Given the description of an element on the screen output the (x, y) to click on. 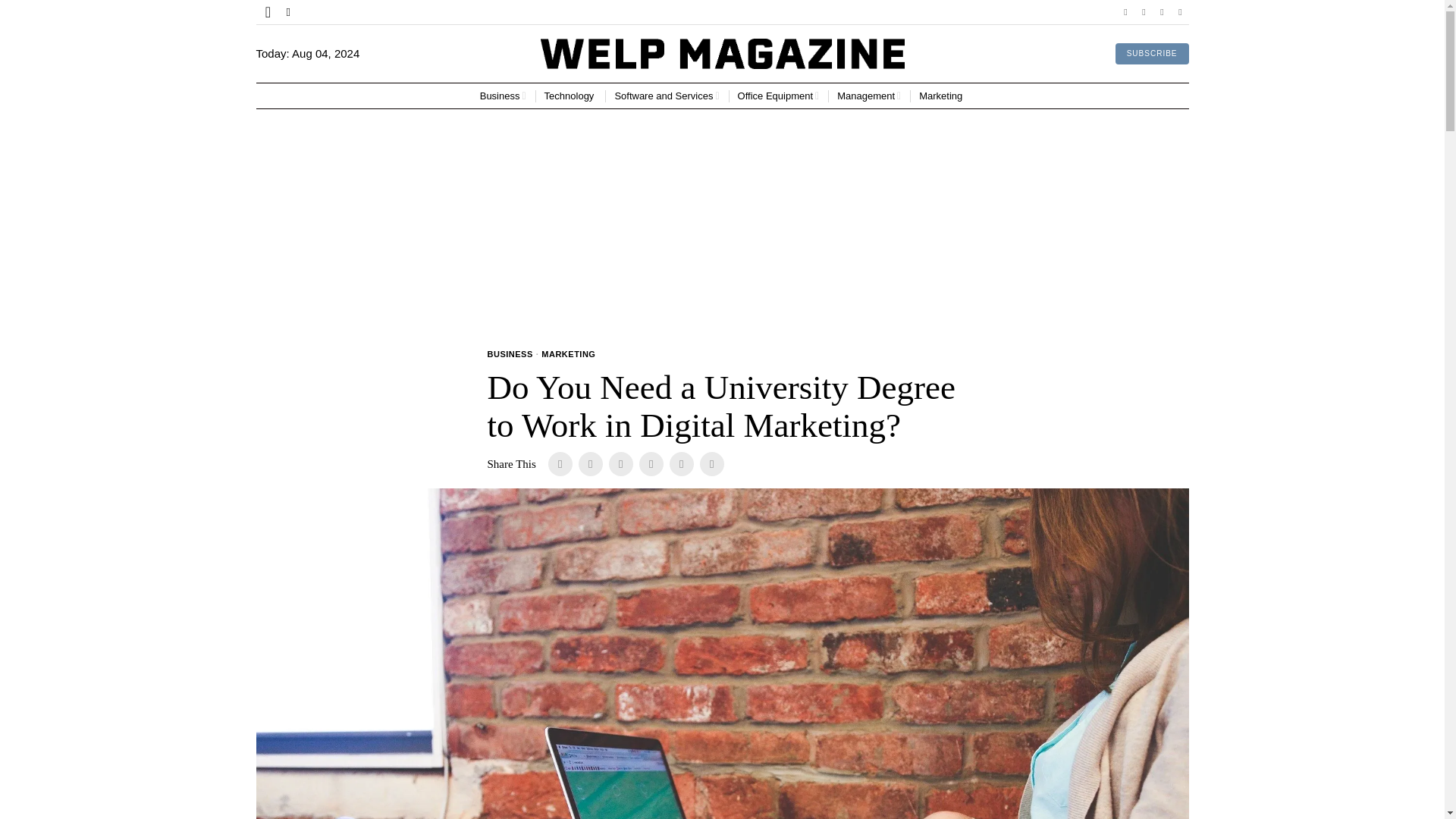
Marketing (942, 95)
SUBSCRIBE (1152, 53)
Technology (570, 95)
Office Equipment (778, 95)
Software and Services (666, 95)
Business (502, 95)
Management (869, 95)
MARKETING (568, 354)
BUSINESS (509, 354)
